Given the description of an element on the screen output the (x, y) to click on. 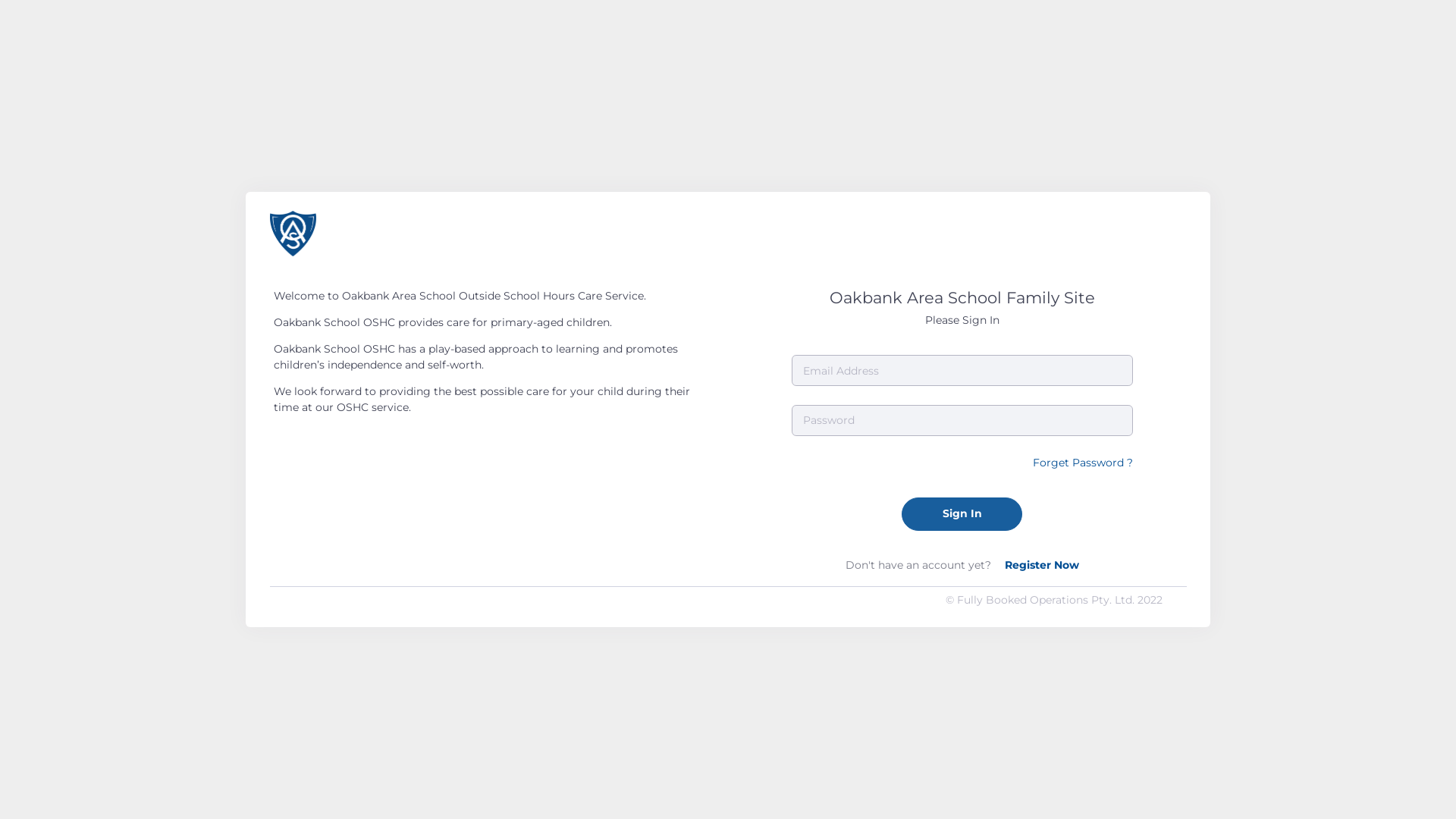
Register Now Element type: text (1041, 564)
Sign In Element type: text (961, 513)
Forget Password ? Element type: text (1082, 462)
